Given the description of an element on the screen output the (x, y) to click on. 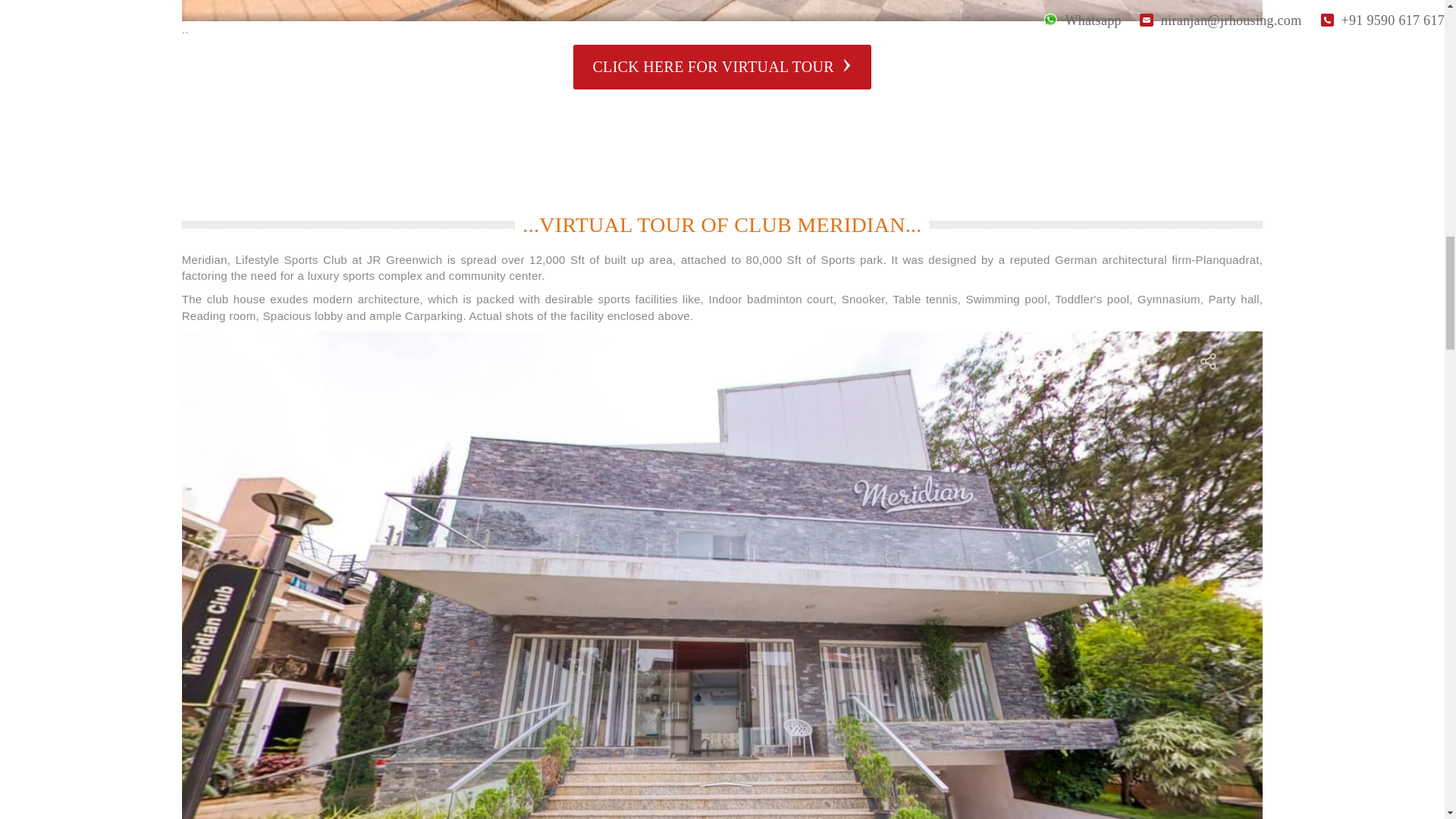
Virtual tour of  Club house at JR Greenwich (721, 67)
BDA approved Villas on Sarjapur road next to Wipro Campus (722, 10)
